Given the description of an element on the screen output the (x, y) to click on. 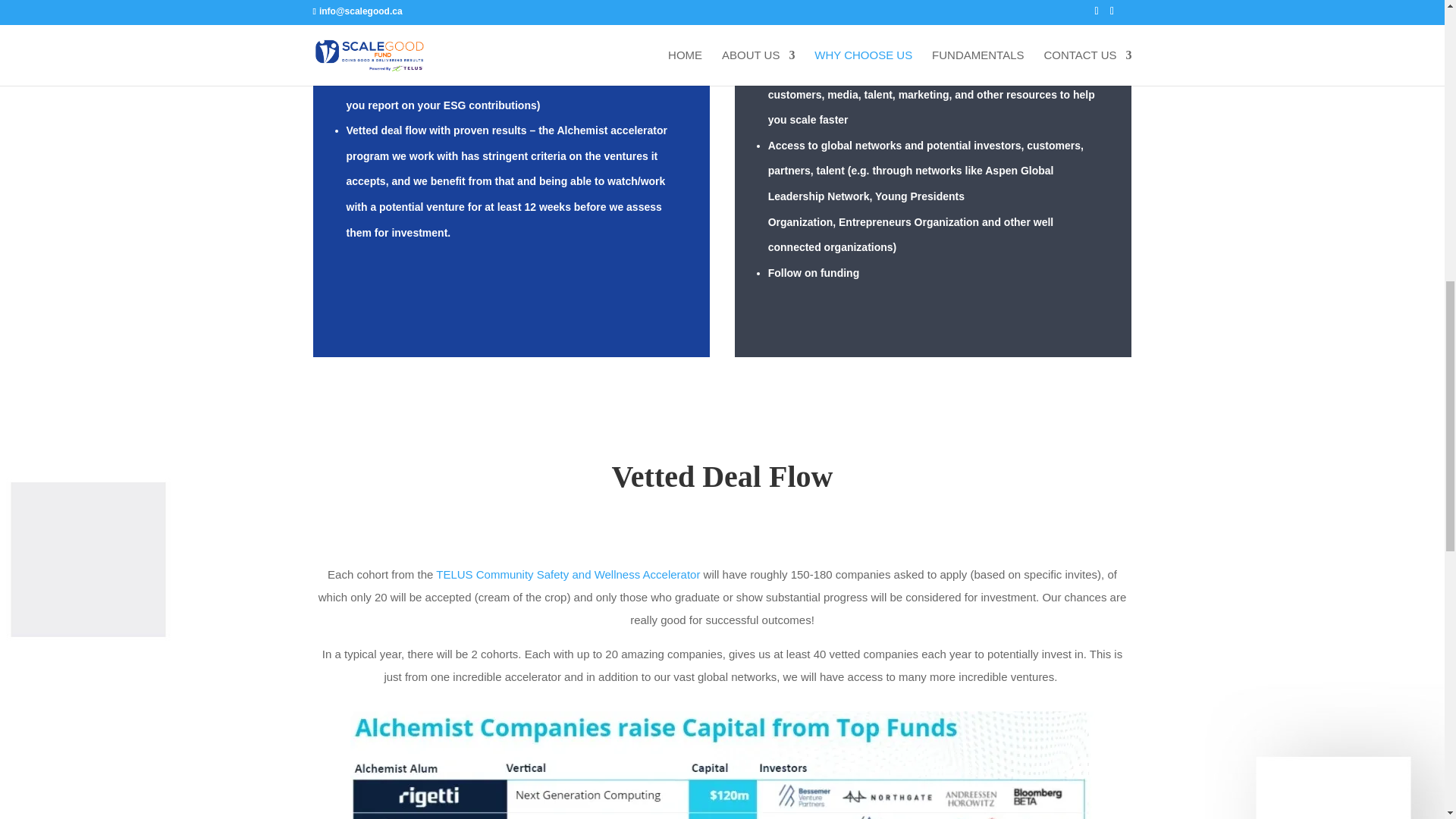
Entrepreneurs Organization (908, 222)
Vetted deal flow (386, 130)
TELUS Community Safety and Wellness Accelerator (567, 574)
Young Presidents Organization (865, 209)
Aspen Global Leadership Network (911, 183)
